Given the description of an element on the screen output the (x, y) to click on. 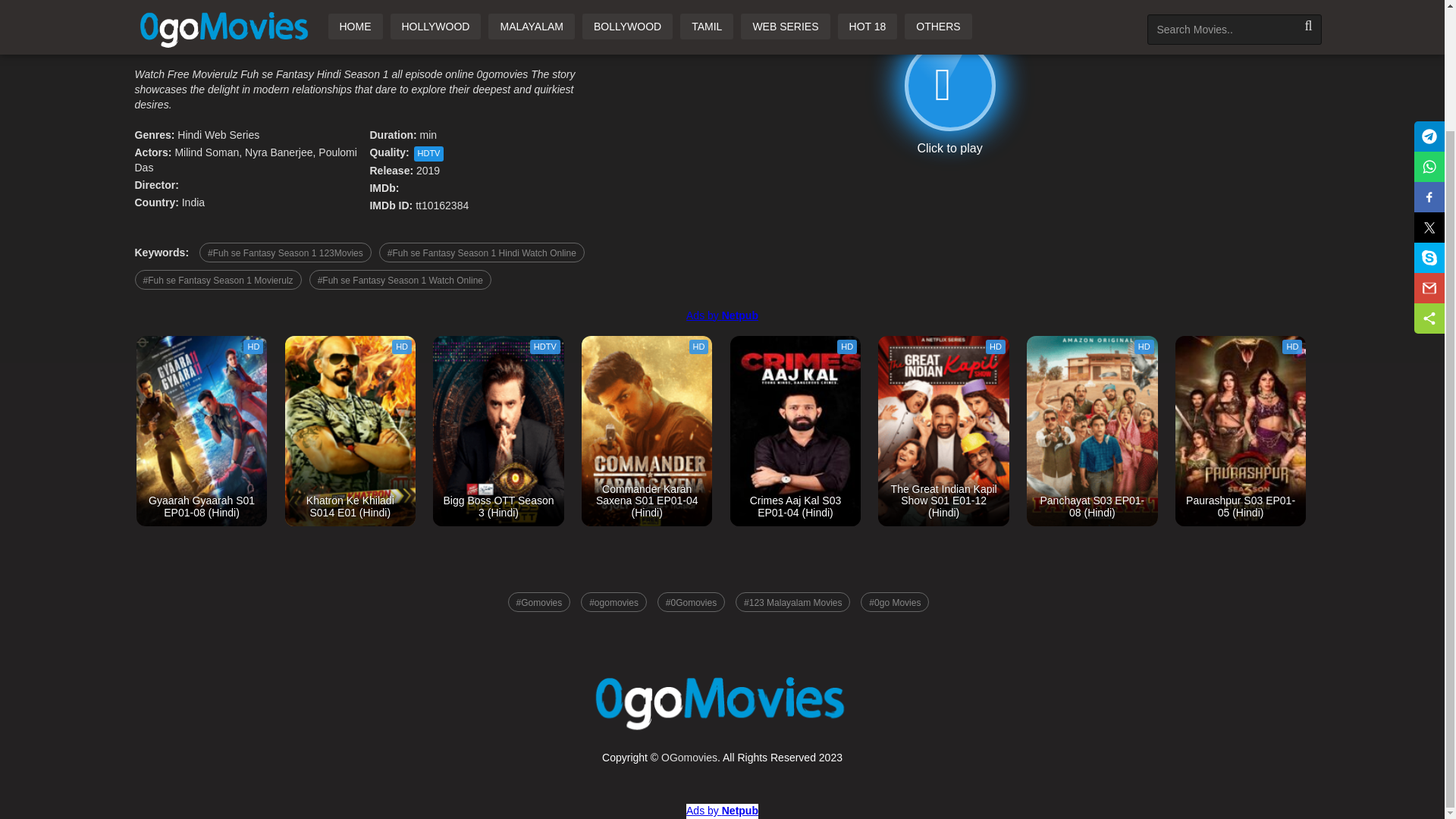
Fuh se Fantasy Season 1 123Movies (285, 252)
2019 (427, 170)
Fuh se Fantasy Season 1 Movierulz (218, 279)
Fuh se Fantasy Season 1 Hindi Watch Online (481, 252)
India (193, 202)
Milind Soman (206, 152)
Nyra Banerjee (278, 152)
Poulomi Das (245, 159)
HDTV (427, 153)
Fuh se Fantasy Season 1 Watch Online (400, 279)
